Given the description of an element on the screen output the (x, y) to click on. 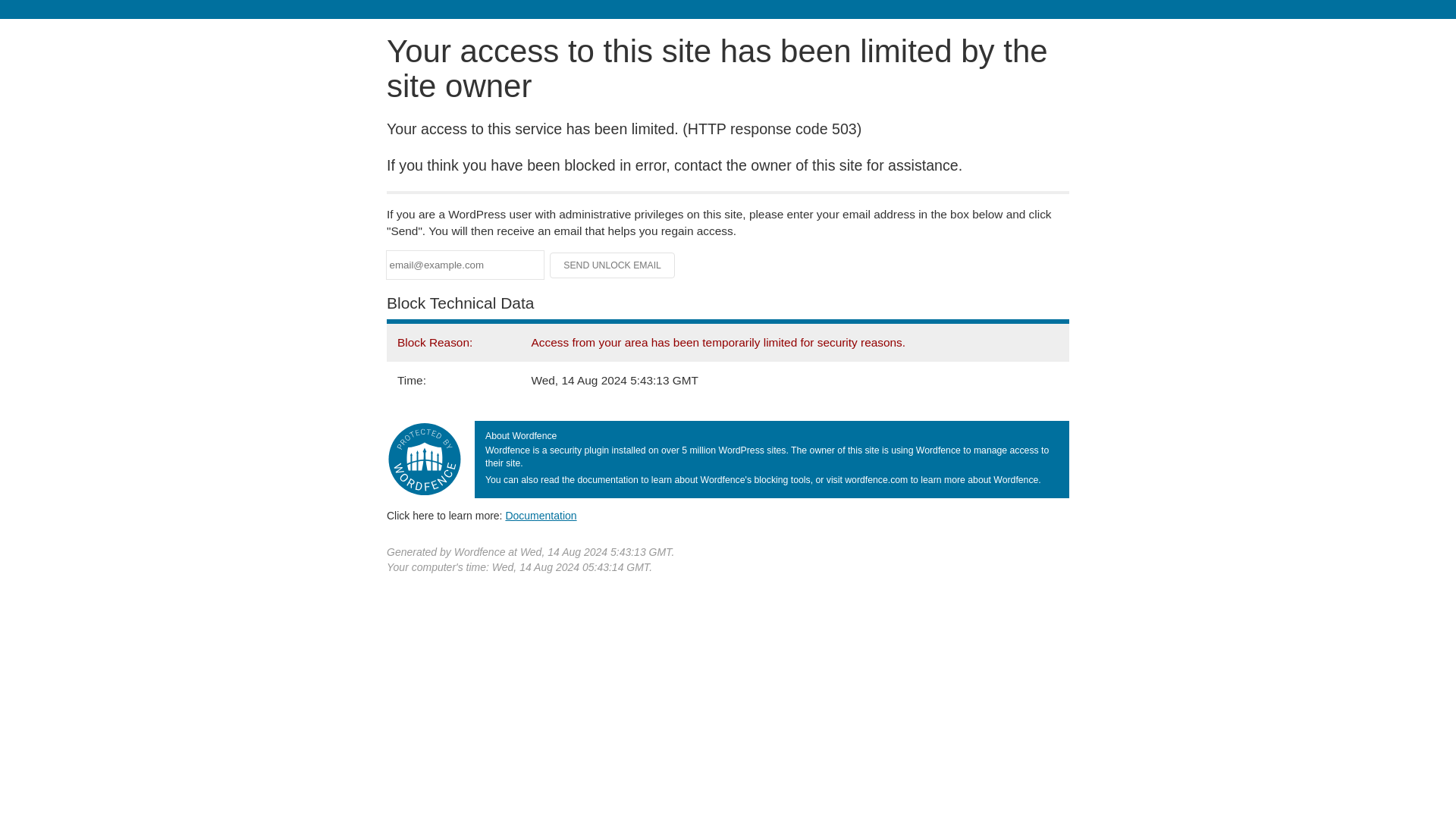
Send Unlock Email (612, 265)
Send Unlock Email (612, 265)
Documentation (540, 515)
